Given the description of an element on the screen output the (x, y) to click on. 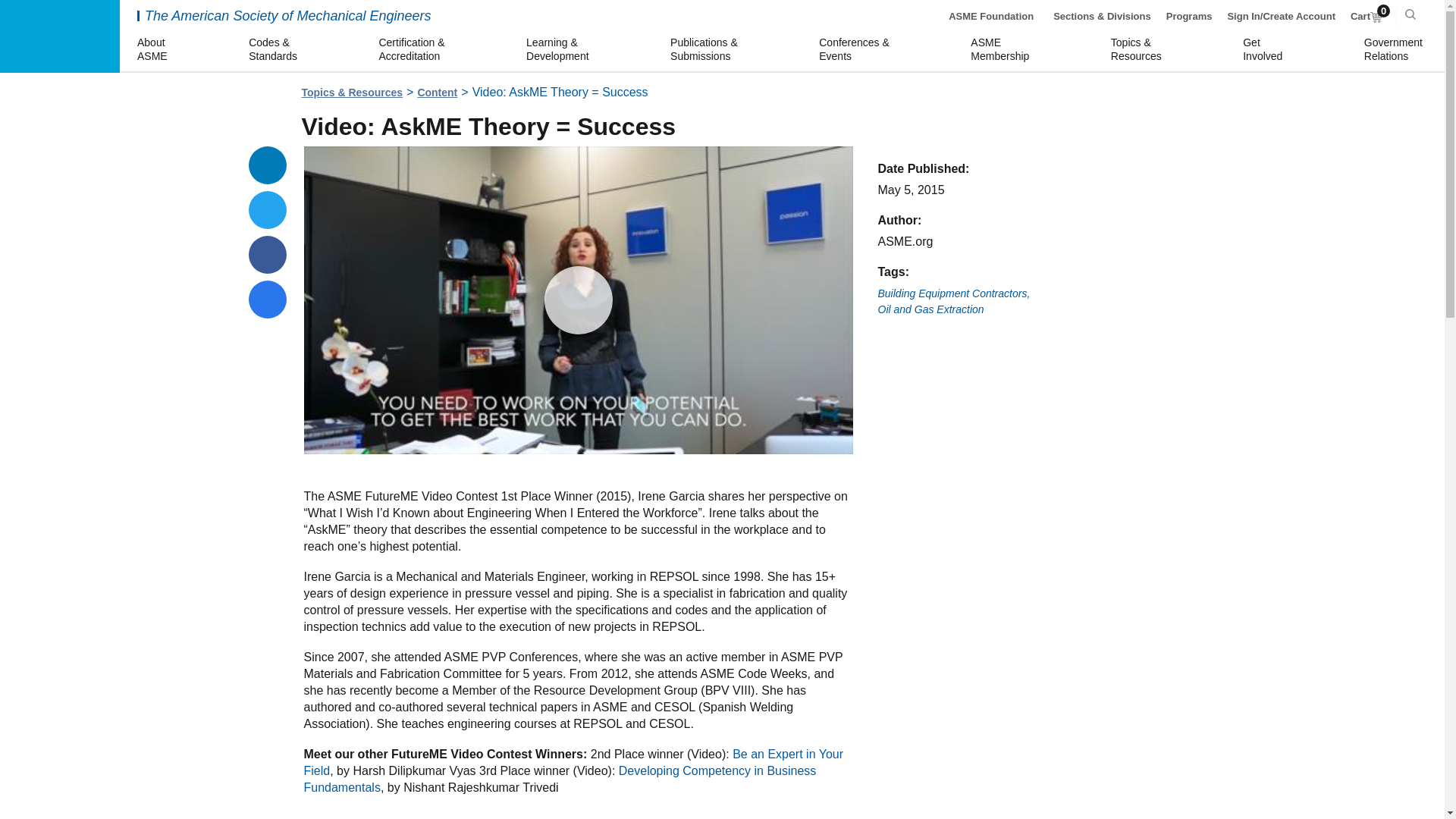
Be an Expert in Your Field (1265, 49)
Oil and Gas Extraction (572, 762)
Share on Twitter (930, 309)
ASME (1366, 16)
Share via email (1395, 49)
Content (267, 209)
